Given the description of an element on the screen output the (x, y) to click on. 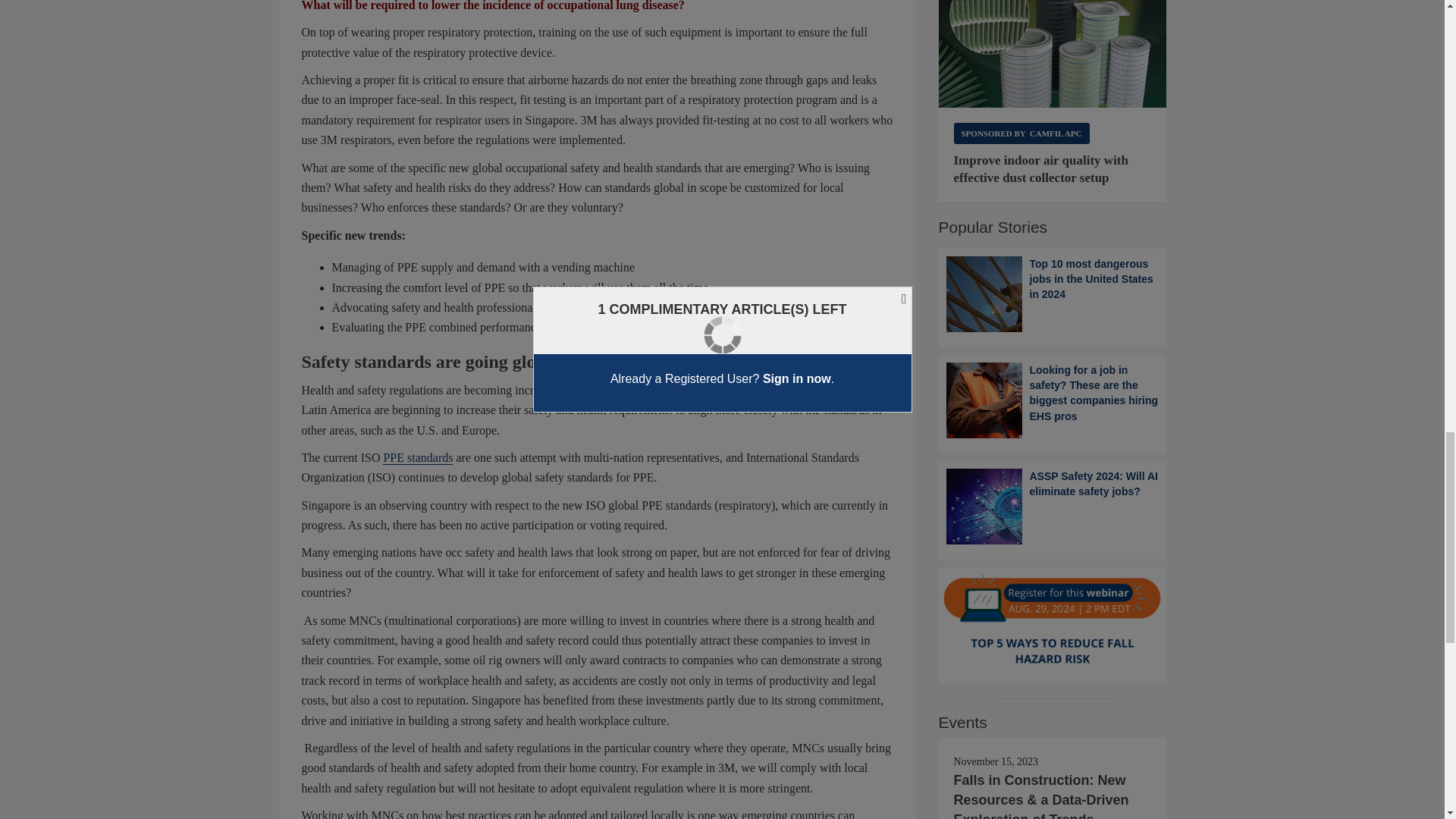
Sponsored by Camfil APC (1021, 132)
ASSP Safety 2024: Will AI eliminate safety jobs? (1052, 506)
Top 10 most dangerous jobs in the United States in 2024 (1052, 294)
dust collector filters and media (1052, 54)
